Given the description of an element on the screen output the (x, y) to click on. 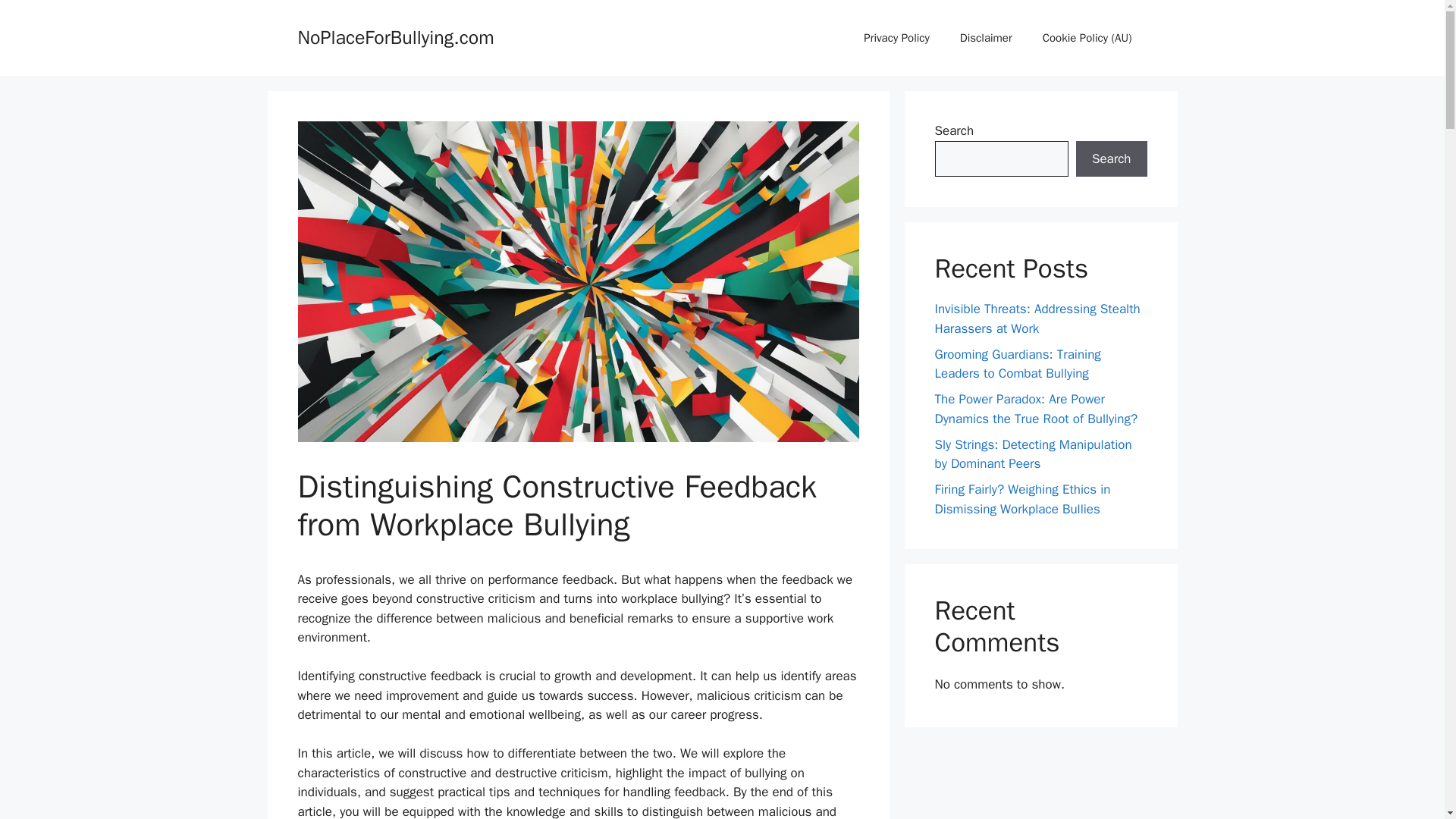
Disclaimer (985, 37)
Privacy Policy (896, 37)
NoPlaceForBullying.com (395, 37)
